Given the description of an element on the screen output the (x, y) to click on. 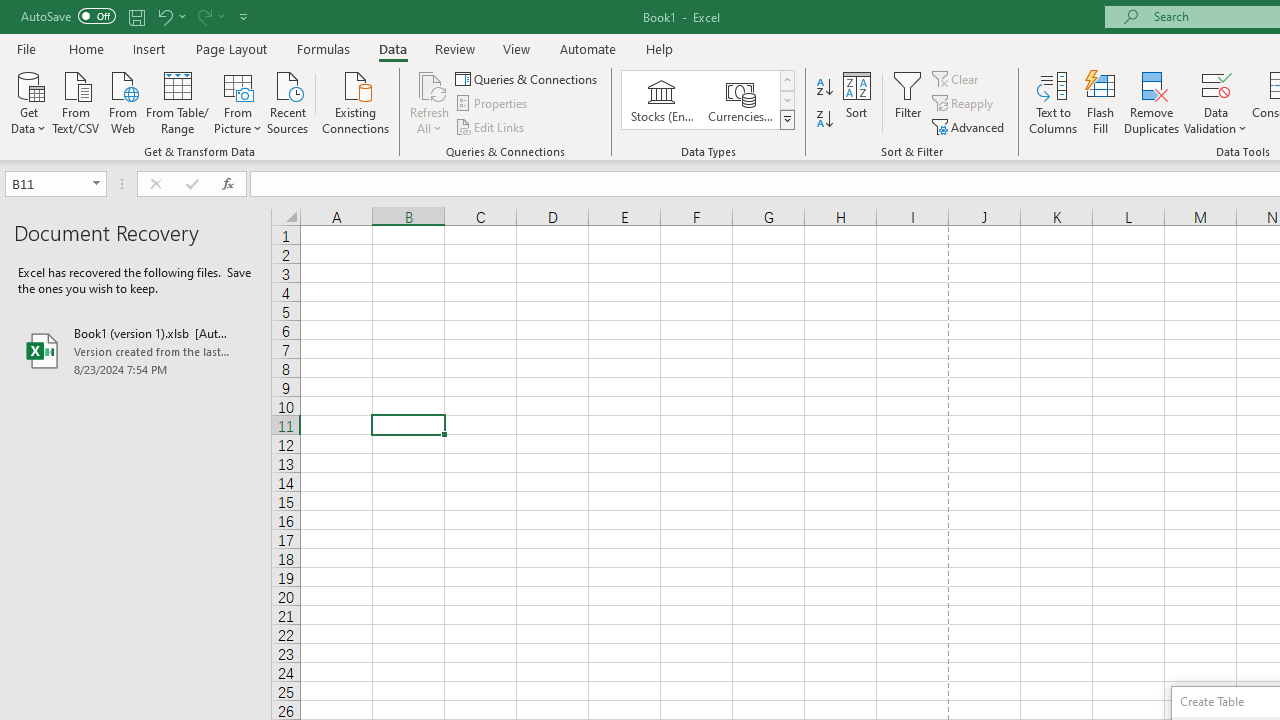
Data (392, 48)
Data Types (786, 120)
Remove Duplicates (1151, 102)
Properties (492, 103)
AutomationID: ConvertToLinkedEntity (708, 99)
Open (96, 183)
From Picture (238, 101)
Refresh All (429, 102)
Refresh All (429, 84)
Book1 (version 1).xlsb  [AutoRecovered] (136, 350)
Formulas (323, 48)
Sort A to Z (824, 87)
